Given the description of an element on the screen output the (x, y) to click on. 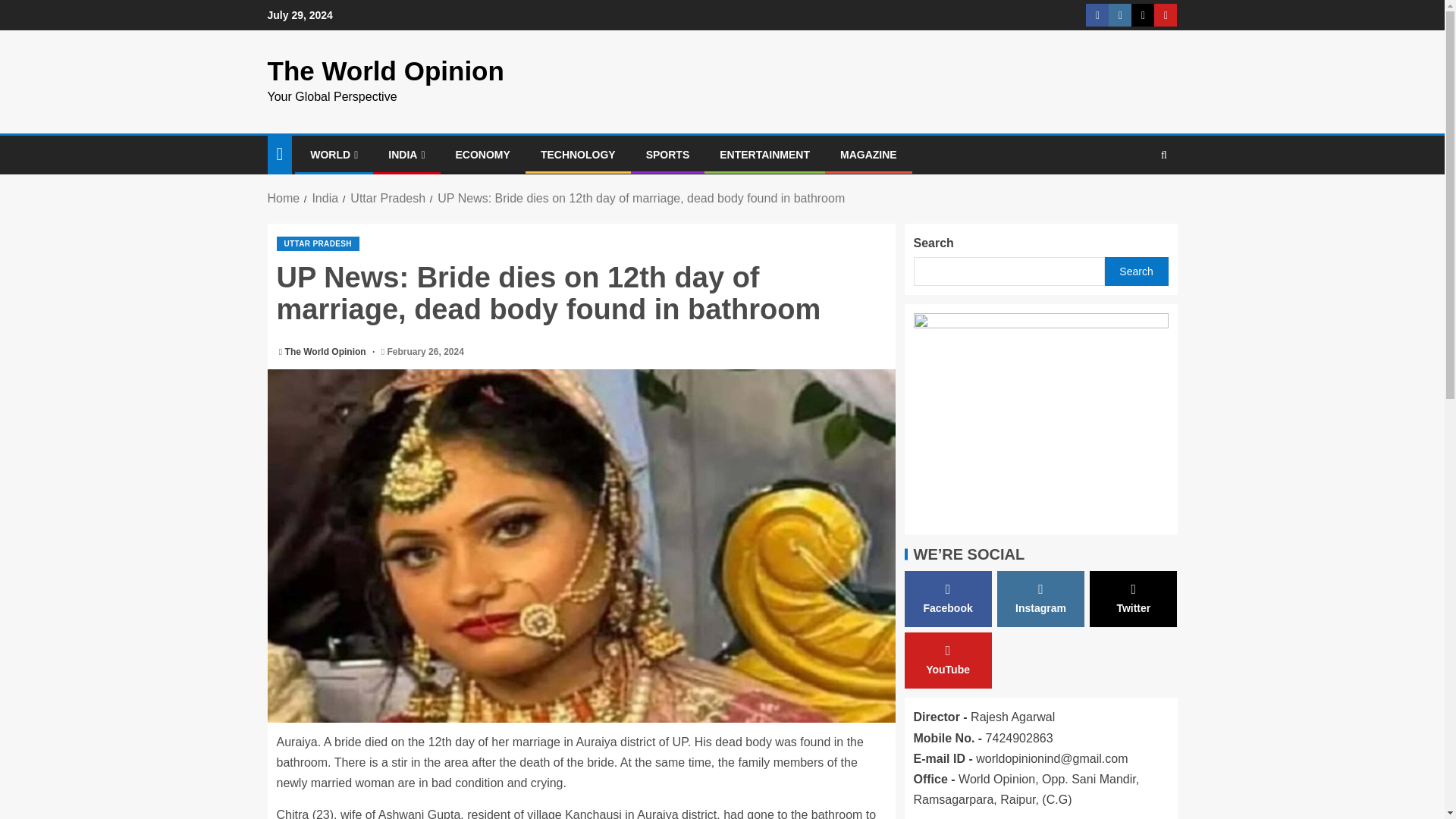
ENTERTAINMENT (764, 154)
Uttar Pradesh (387, 197)
India (324, 197)
ECONOMY (483, 154)
INDIA (406, 154)
WORLD (334, 154)
The World Opinion (326, 351)
Twitter (1132, 598)
SPORTS (668, 154)
Instagram (1040, 598)
Home (282, 197)
UTTAR PRADESH (317, 243)
MAGAZINE (868, 154)
Facebook (947, 598)
